Given the description of an element on the screen output the (x, y) to click on. 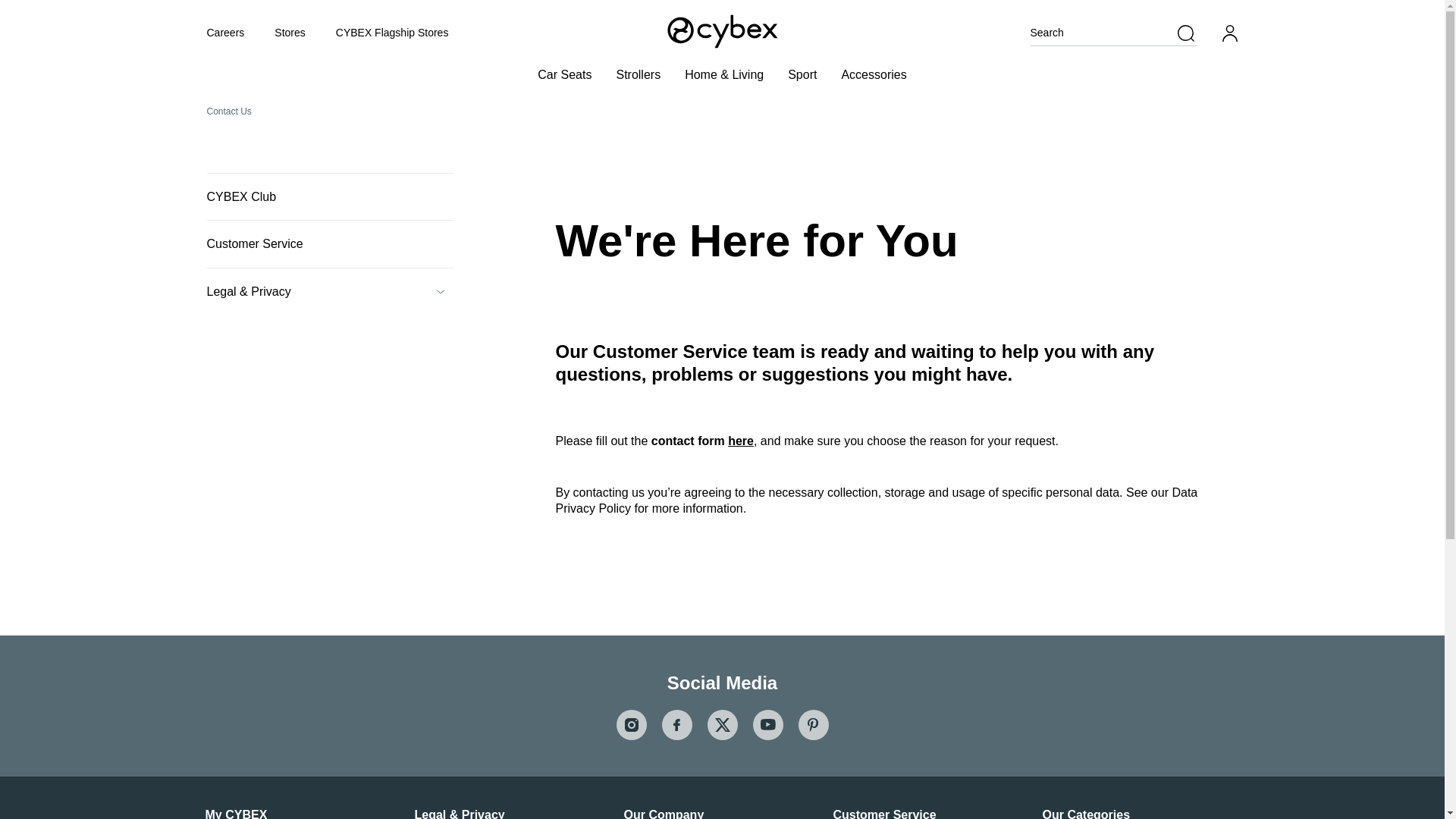
CYBEX Flagship Stores (392, 32)
Careers (225, 32)
Contact Us (228, 111)
Customer Service (329, 243)
Search (1112, 32)
CYBEX Club (329, 196)
here (741, 440)
Follow us on Youtube (767, 725)
Visit us on X (721, 725)
Strollers (638, 72)
